Given the description of an element on the screen output the (x, y) to click on. 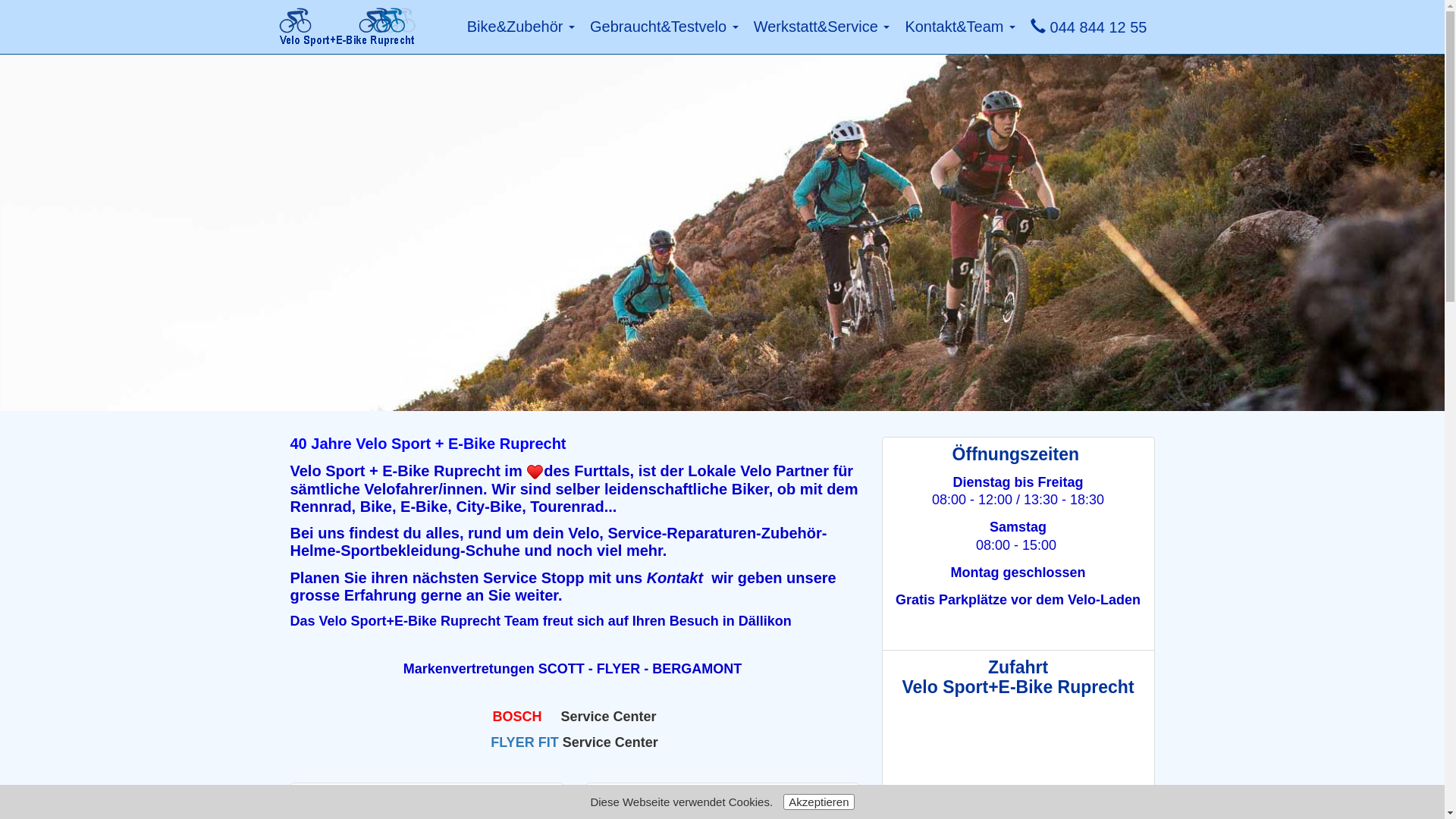
FLYER FIT Element type: text (524, 741)
Werkstatt&Service Element type: text (821, 26)
  Element type: text (543, 716)
K Element type: text (651, 577)
Kontakt&Team Element type: text (959, 26)
heart Element type: hover (534, 471)
ontakt Element type: text (679, 577)
044 844 12 55 Element type: text (1088, 26)
BOSCH Element type: text (516, 716)
Akzeptieren Element type: text (818, 801)
Gebraucht&Testvelo Element type: text (664, 26)
